Given the description of an element on the screen output the (x, y) to click on. 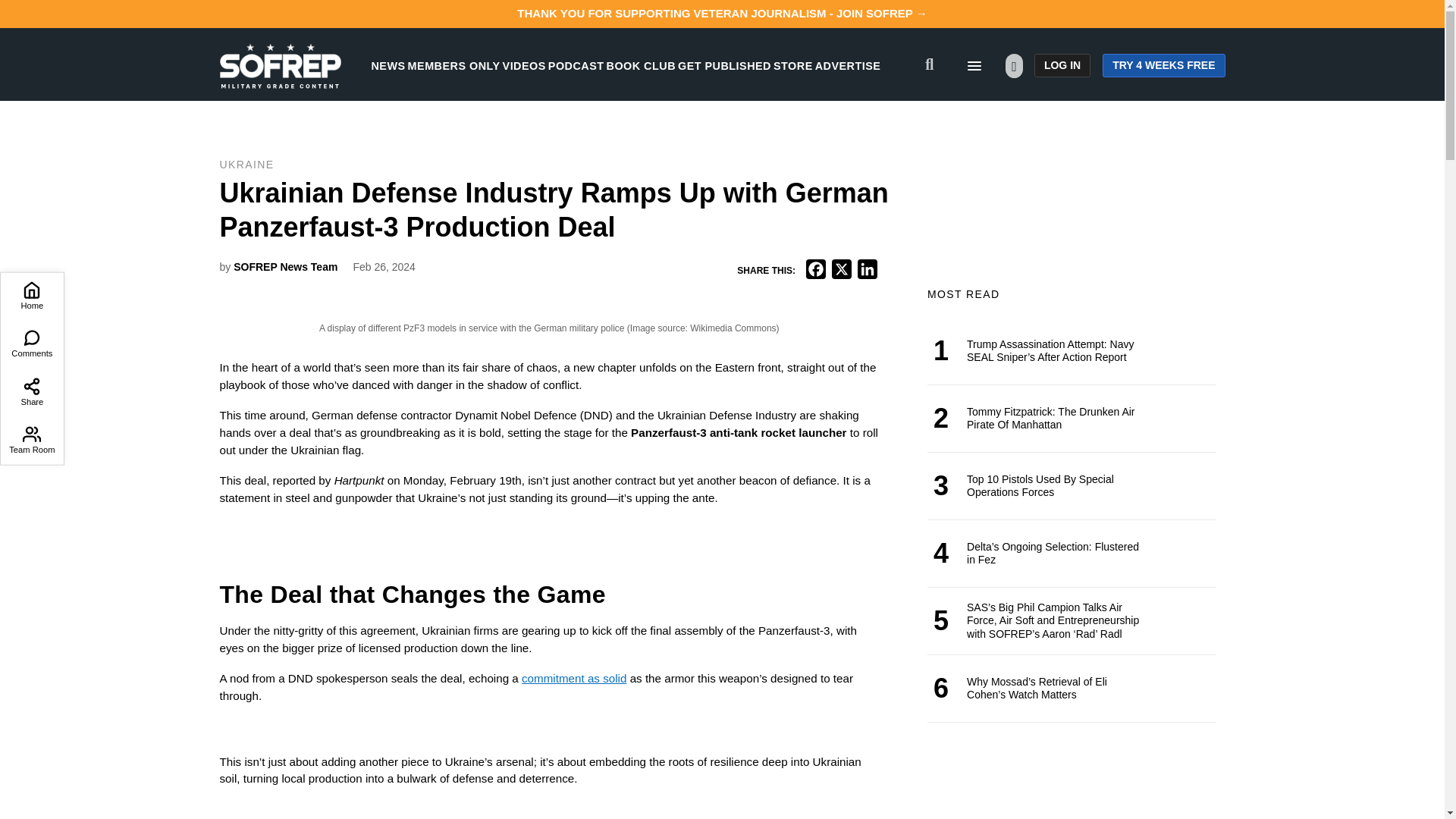
ADVERTISE (847, 65)
BOOK CLUB (641, 65)
MEMBERS ONLY (453, 65)
VIDEOS (524, 65)
GET PUBLISHED (724, 65)
PODCAST (576, 65)
NEWS (388, 65)
STORE (792, 65)
LOG IN (1061, 65)
TRY 4 WEEKS FREE (1163, 65)
